Given the description of an element on the screen output the (x, y) to click on. 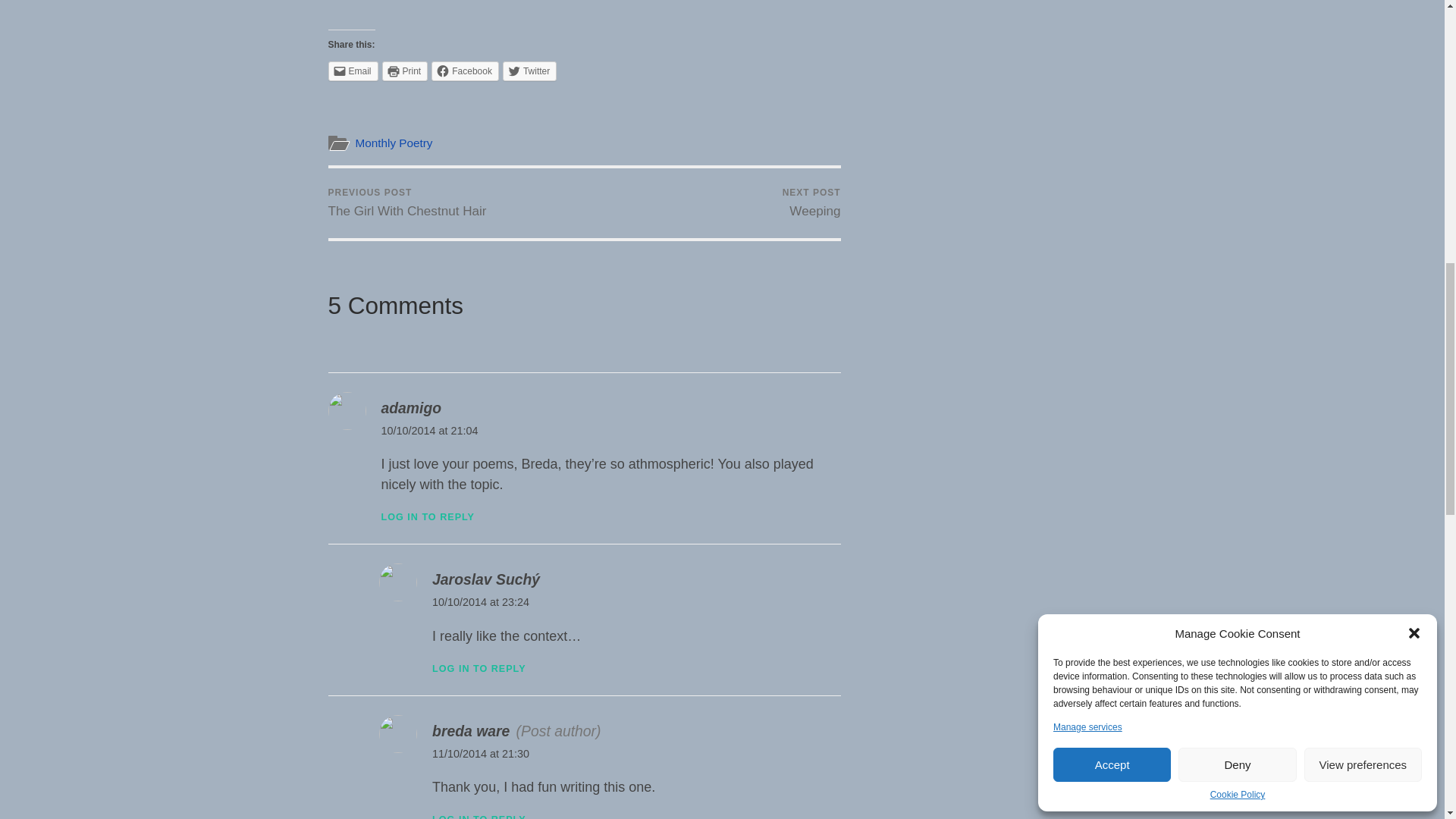
Click to email a link to a friend (352, 71)
Email (352, 71)
Print (404, 71)
LOG IN TO REPLY (427, 516)
Click to print (404, 71)
Facebook (464, 71)
LOG IN TO REPLY (478, 816)
Click to share on Facebook (464, 71)
Monthly Poetry (393, 142)
Twitter (529, 71)
LOG IN TO REPLY (478, 668)
Click to share on Twitter (529, 71)
